Given the description of an element on the screen output the (x, y) to click on. 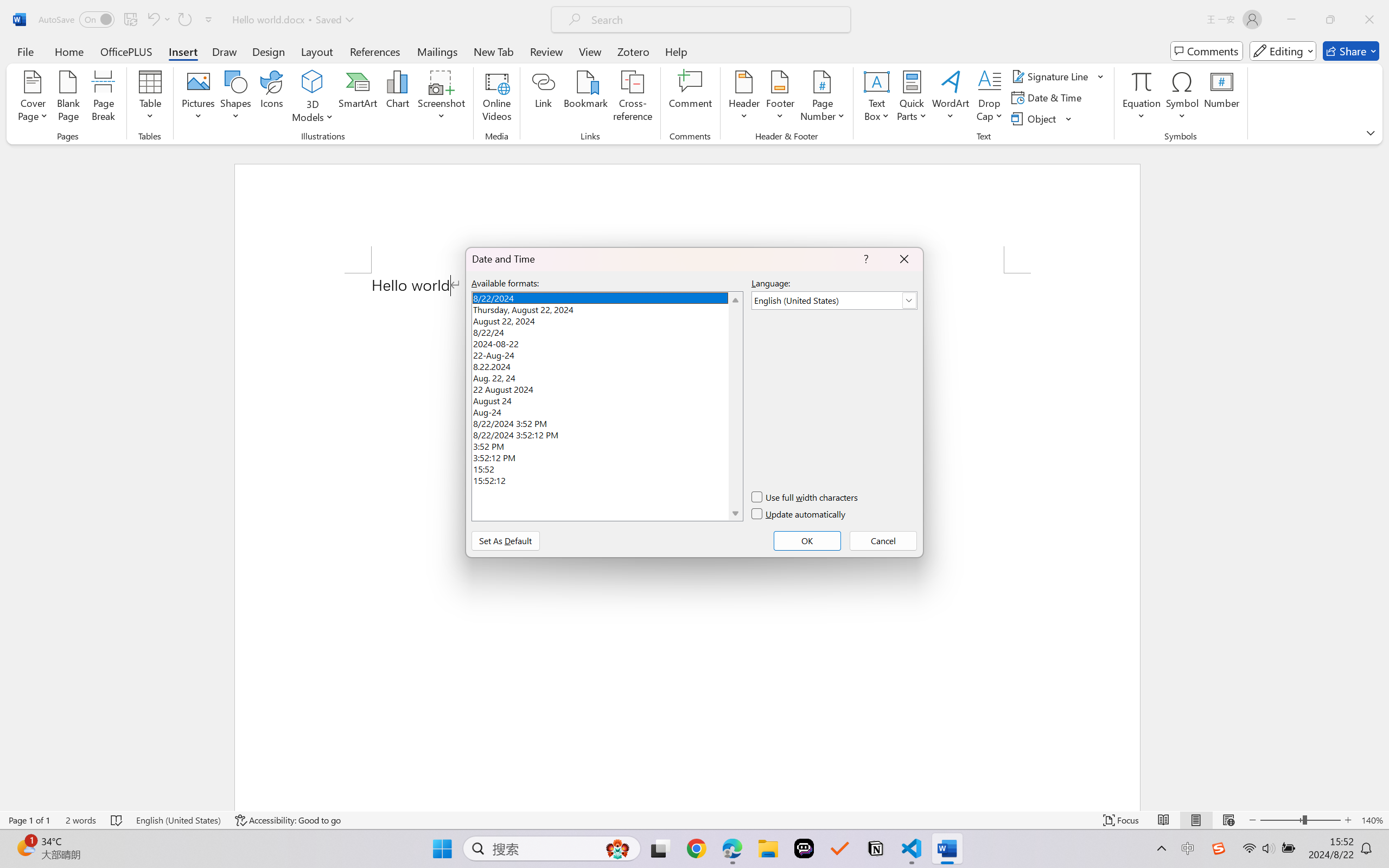
Thursday, August 22, 2024 (606, 308)
Table (149, 97)
Use full width characters (805, 497)
Chart... (396, 97)
Class: NetUIScrollBar (1382, 477)
Number... (1221, 97)
Language: (834, 300)
Class: MsoCommandBar (694, 819)
Zoom Out (1280, 819)
Equation (1141, 81)
Design (268, 51)
